Given the description of an element on the screen output the (x, y) to click on. 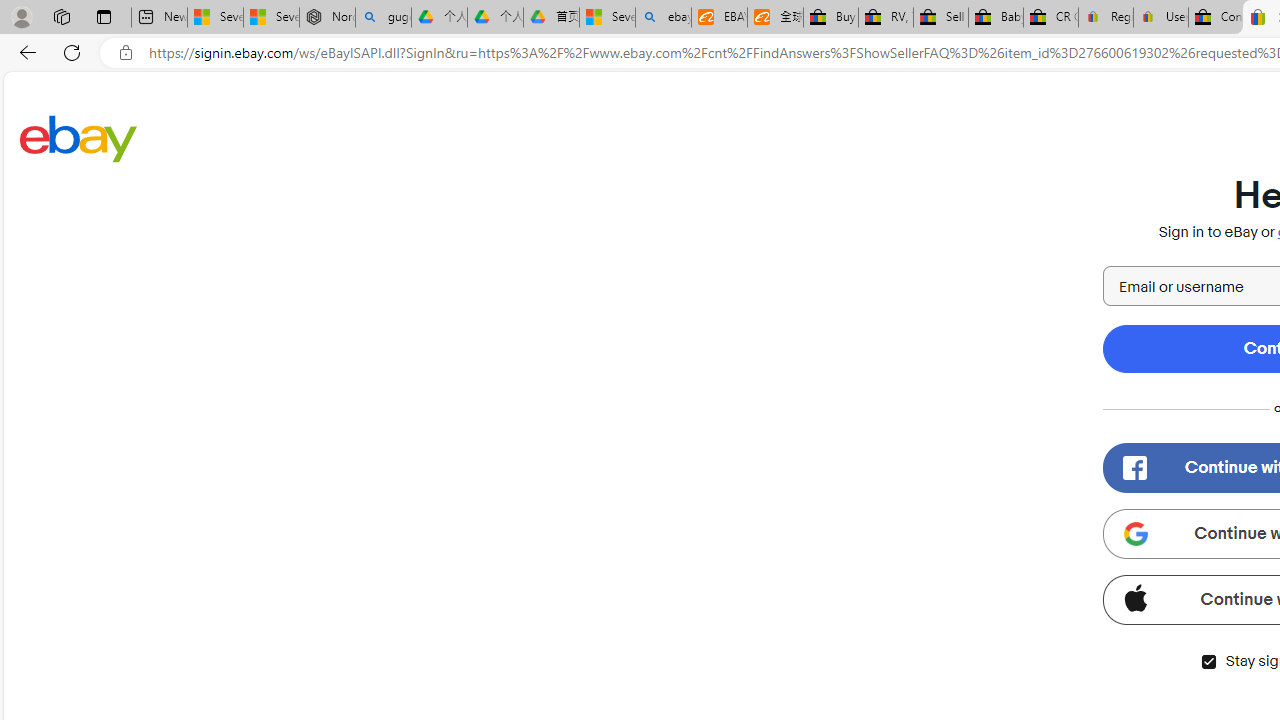
eBay Home (78, 138)
To get missing image descriptions, open the context menu. (1135, 533)
RV, Trailer & Camper Steps & Ladders for sale | eBay (885, 17)
Stay signed in (1208, 661)
User Privacy Notice | eBay (1160, 17)
Class: apple-icon (1135, 597)
Sell worldwide with eBay (940, 17)
Buy Auto Parts & Accessories | eBay (830, 17)
eBay Home (78, 138)
Consumer Health Data Privacy Policy - eBay Inc. (1215, 17)
Baby Keepsakes & Announcements for sale | eBay (995, 17)
